Given the description of an element on the screen output the (x, y) to click on. 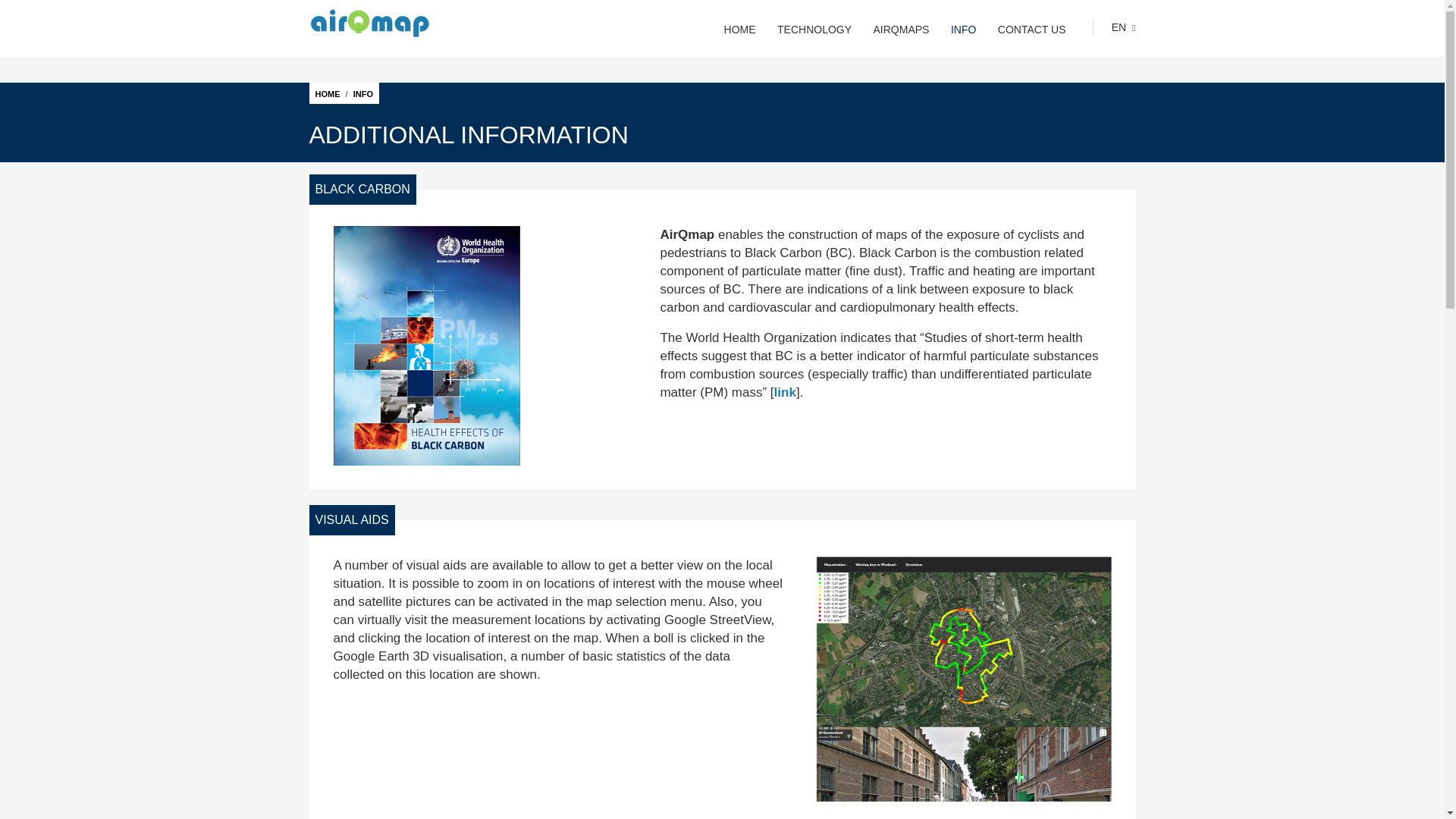
INFO (362, 93)
INFO (962, 29)
CONTACT US (1031, 29)
HOME (327, 93)
HOME (739, 29)
AIRQMAPS (901, 29)
Home (391, 23)
link (785, 391)
TECHNOLOGY (814, 29)
